Given the description of an element on the screen output the (x, y) to click on. 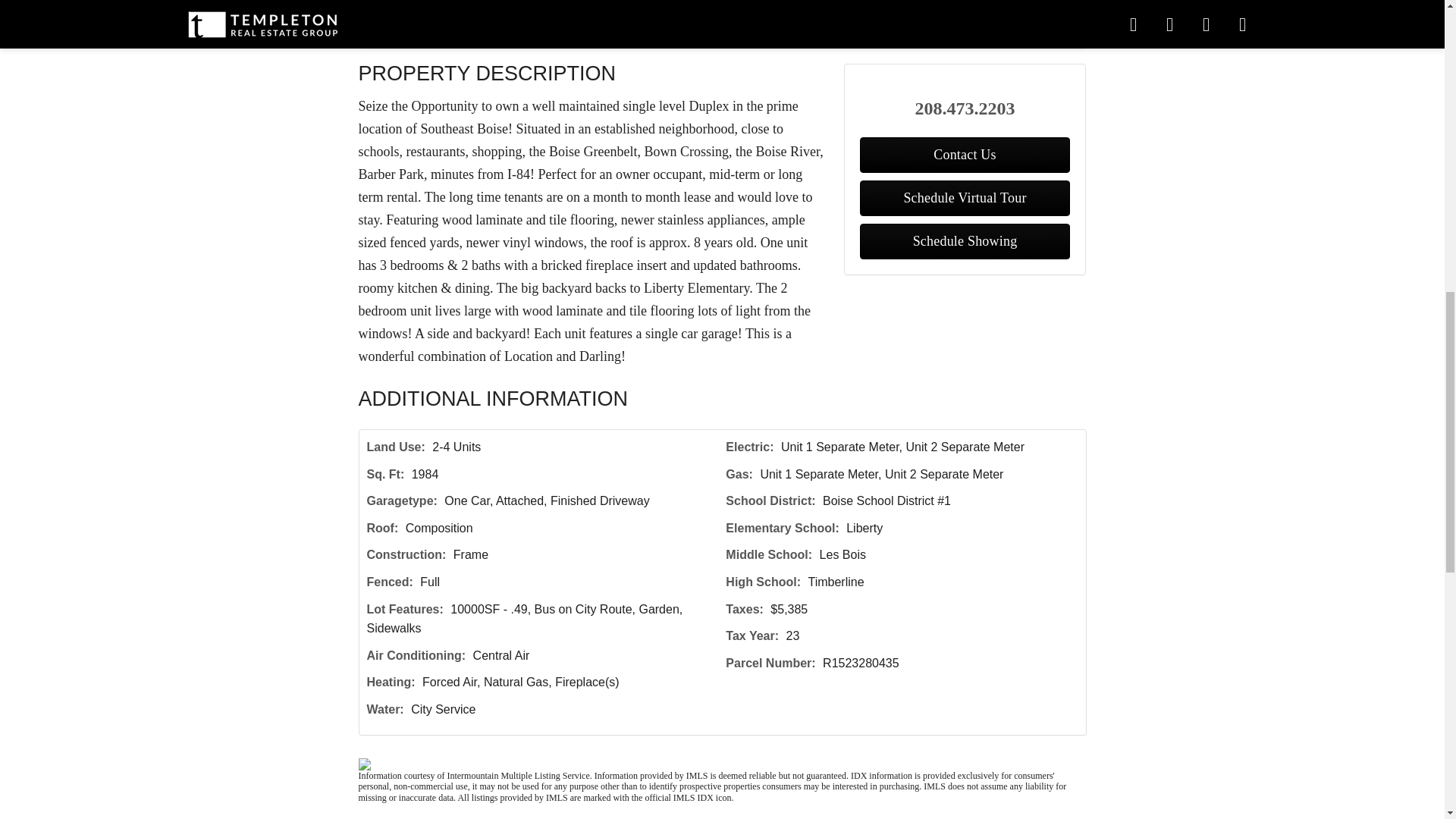
New Search (1040, 29)
Contact Us (407, 29)
Share (641, 29)
Call Us (483, 29)
View on Map (564, 29)
